Given the description of an element on the screen output the (x, y) to click on. 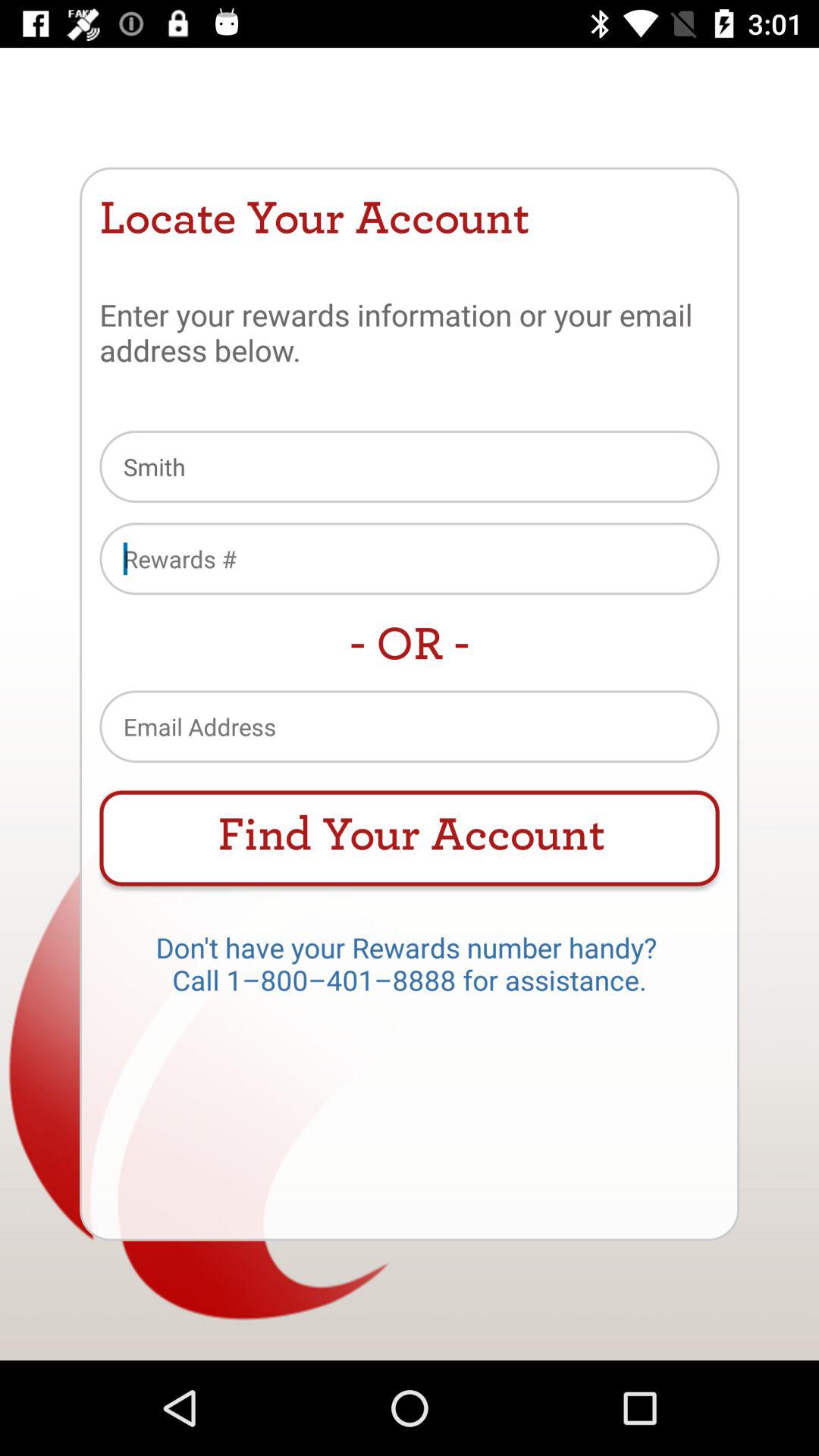
rewards (409, 558)
